Given the description of an element on the screen output the (x, y) to click on. 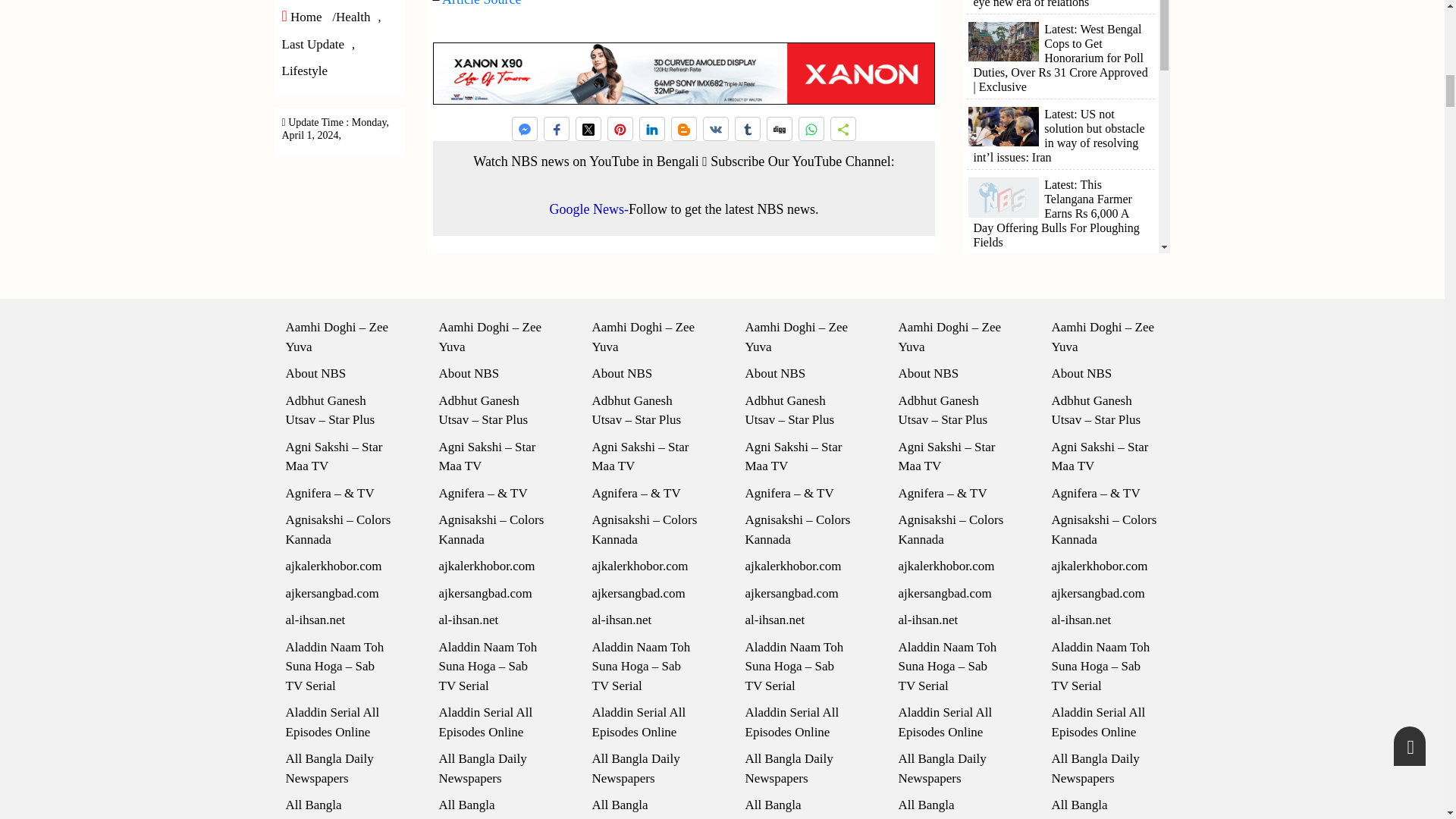
Article Source (481, 3)
